Given the description of an element on the screen output the (x, y) to click on. 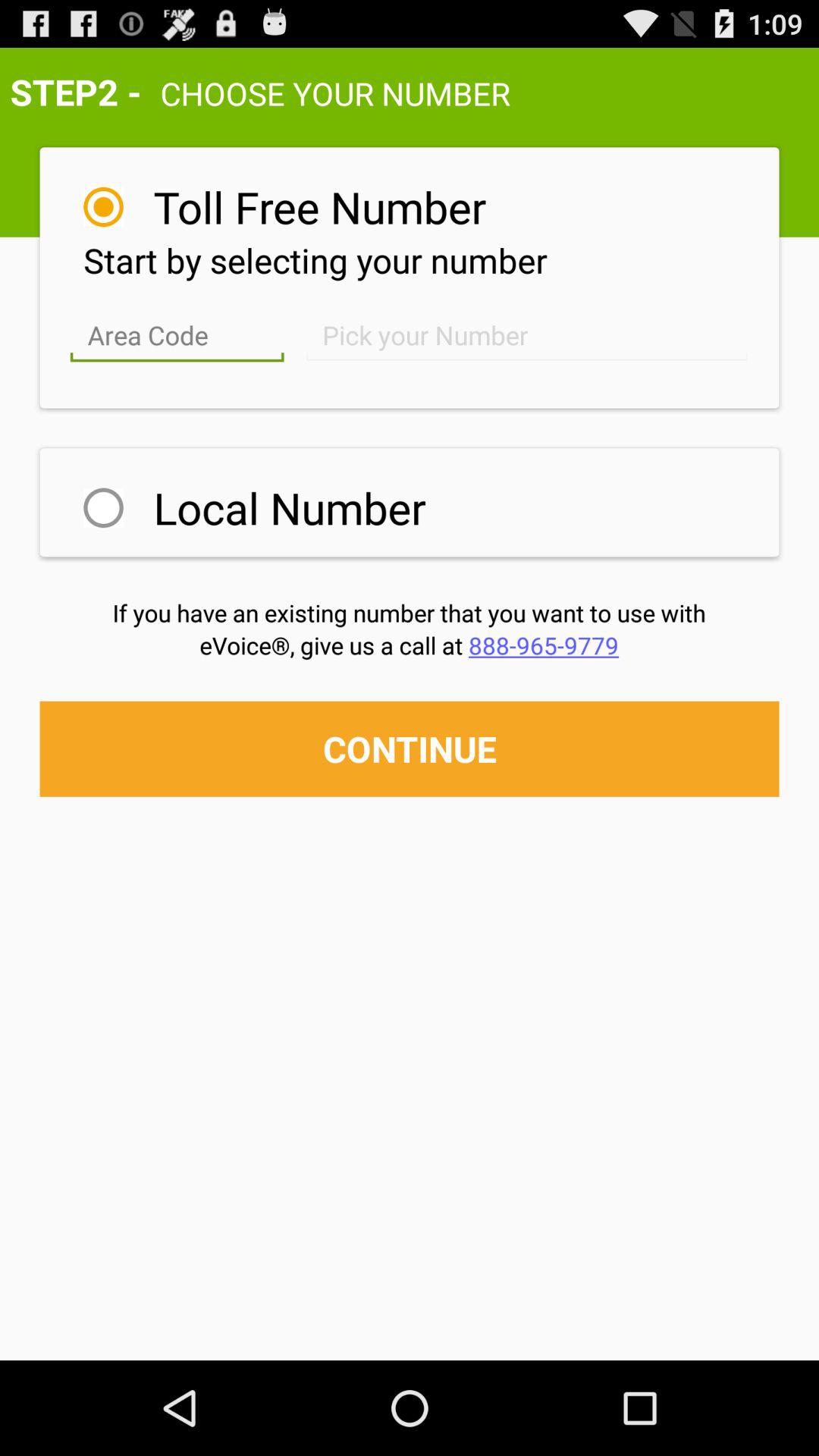
turn on icon to the left of the local number (103, 507)
